Given the description of an element on the screen output the (x, y) to click on. 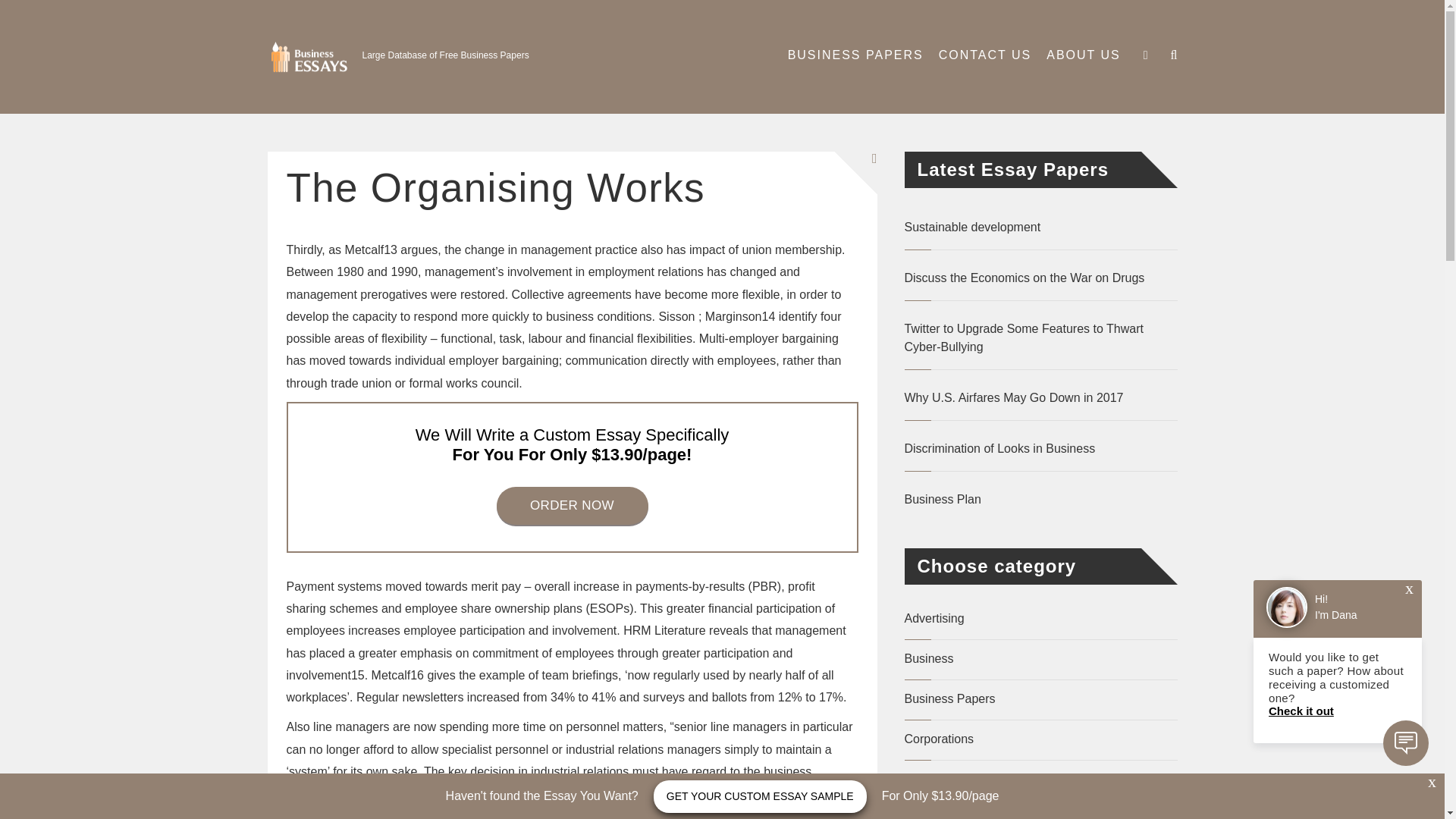
Twitter to Upgrade Some Features to Thwart Cyber-Bullying (1040, 338)
Why U.S. Airfares May Go Down in 2017 (1040, 398)
Design (923, 816)
Corporations (939, 738)
Business Plan (1040, 499)
business-papers.com (313, 71)
Sustainable development (1040, 227)
BUSINESS PAPERS (855, 55)
Discrimination of Looks in Business (1040, 448)
ORDER NOW (571, 505)
